Given the description of an element on the screen output the (x, y) to click on. 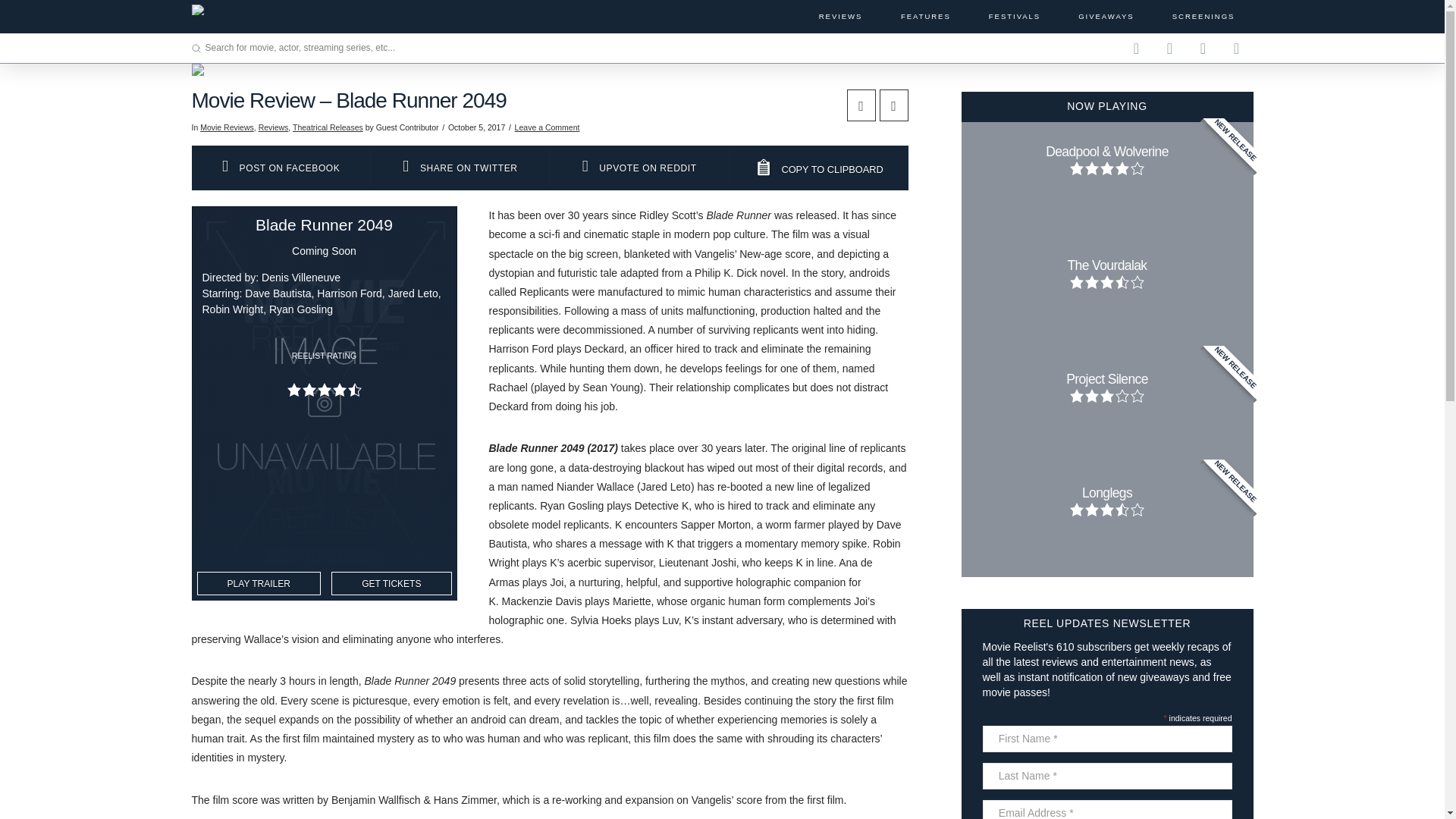
Last Name (1106, 775)
FEATURES (924, 16)
REVIEWS (840, 16)
FESTIVALS (1013, 16)
Email Address (1106, 809)
GIVEAWAYS (1104, 16)
First Name (1106, 738)
SCREENINGS (1202, 16)
